Given the description of an element on the screen output the (x, y) to click on. 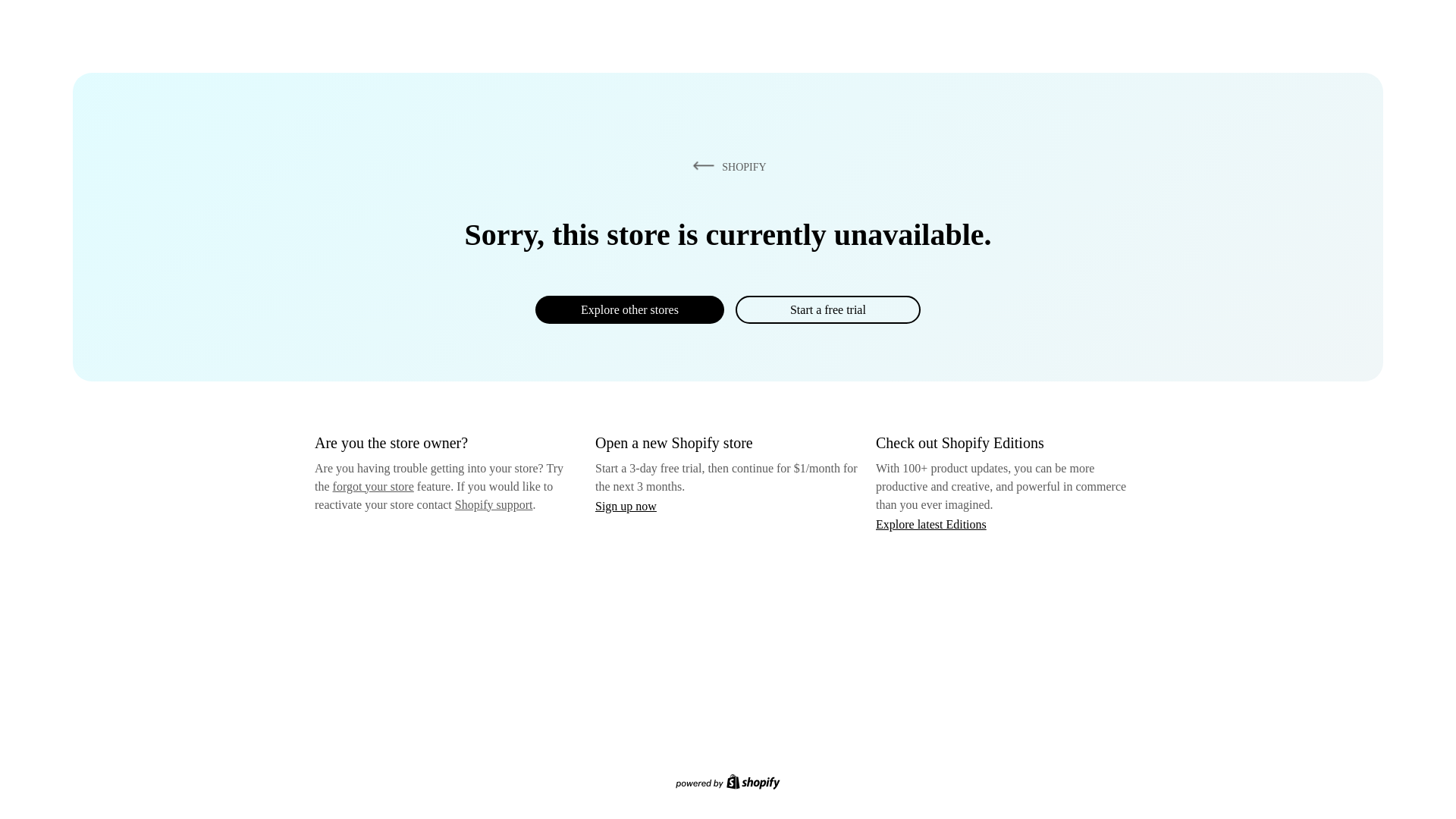
SHOPIFY (726, 166)
Shopify support (493, 504)
Explore latest Editions (931, 523)
Sign up now (625, 505)
Explore other stores (629, 309)
forgot your store (373, 486)
Start a free trial (827, 309)
